Given the description of an element on the screen output the (x, y) to click on. 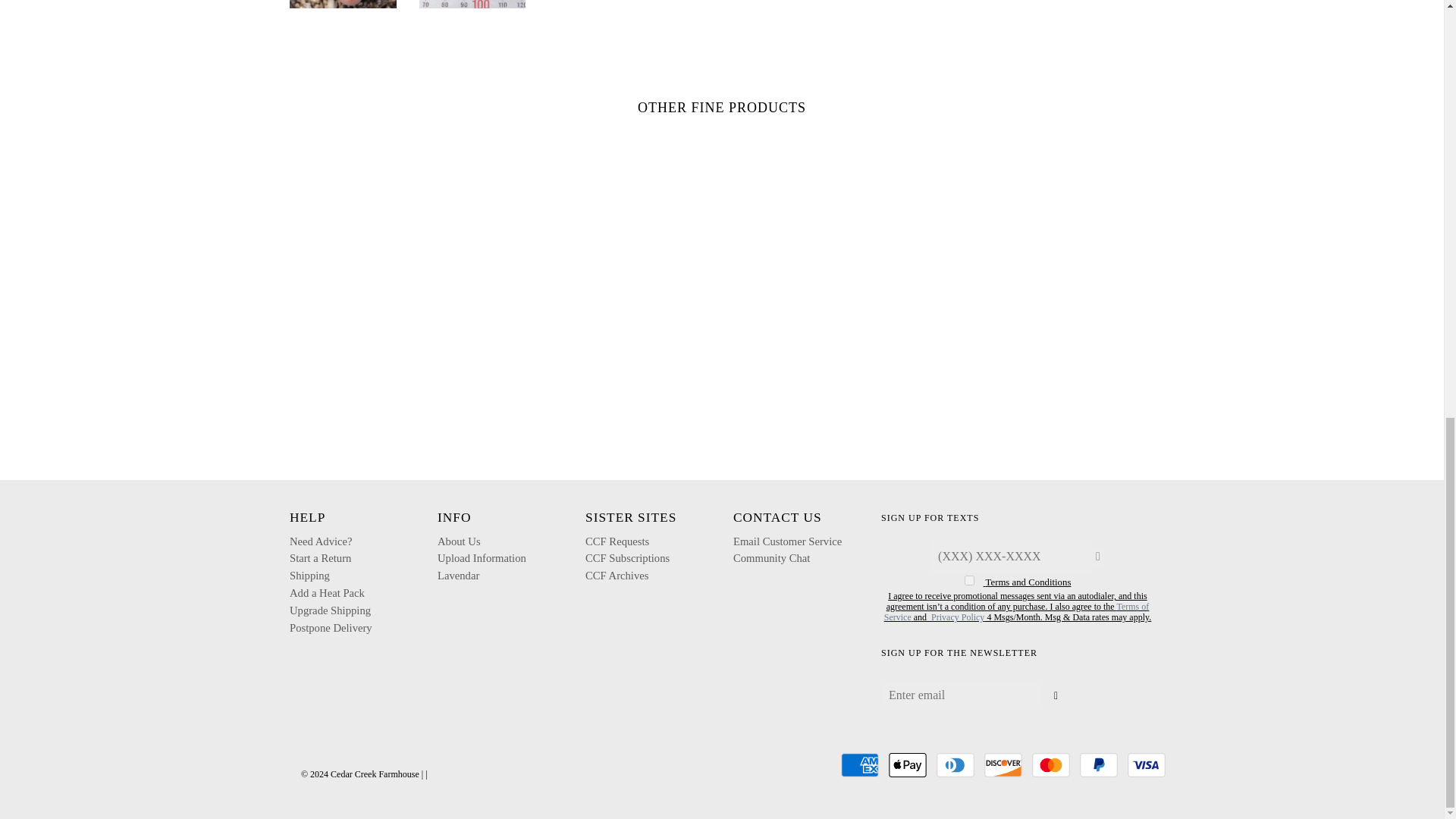
on (968, 580)
